Given the description of an element on the screen output the (x, y) to click on. 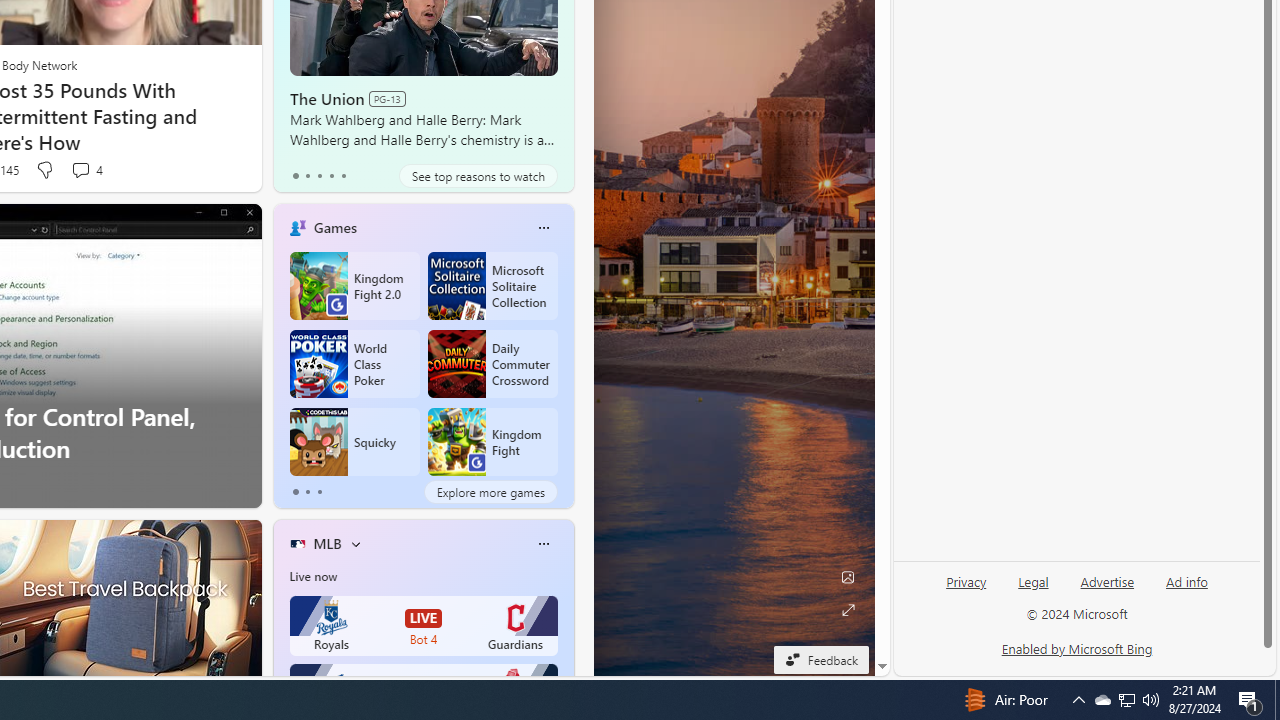
MLB (327, 543)
Explore more games (490, 491)
tab-4 (342, 175)
See top reasons to watch (478, 175)
tab-3 (331, 175)
Royals LIVE Bot 4 Guardians (423, 625)
Expand background (847, 610)
